Given the description of an element on the screen output the (x, y) to click on. 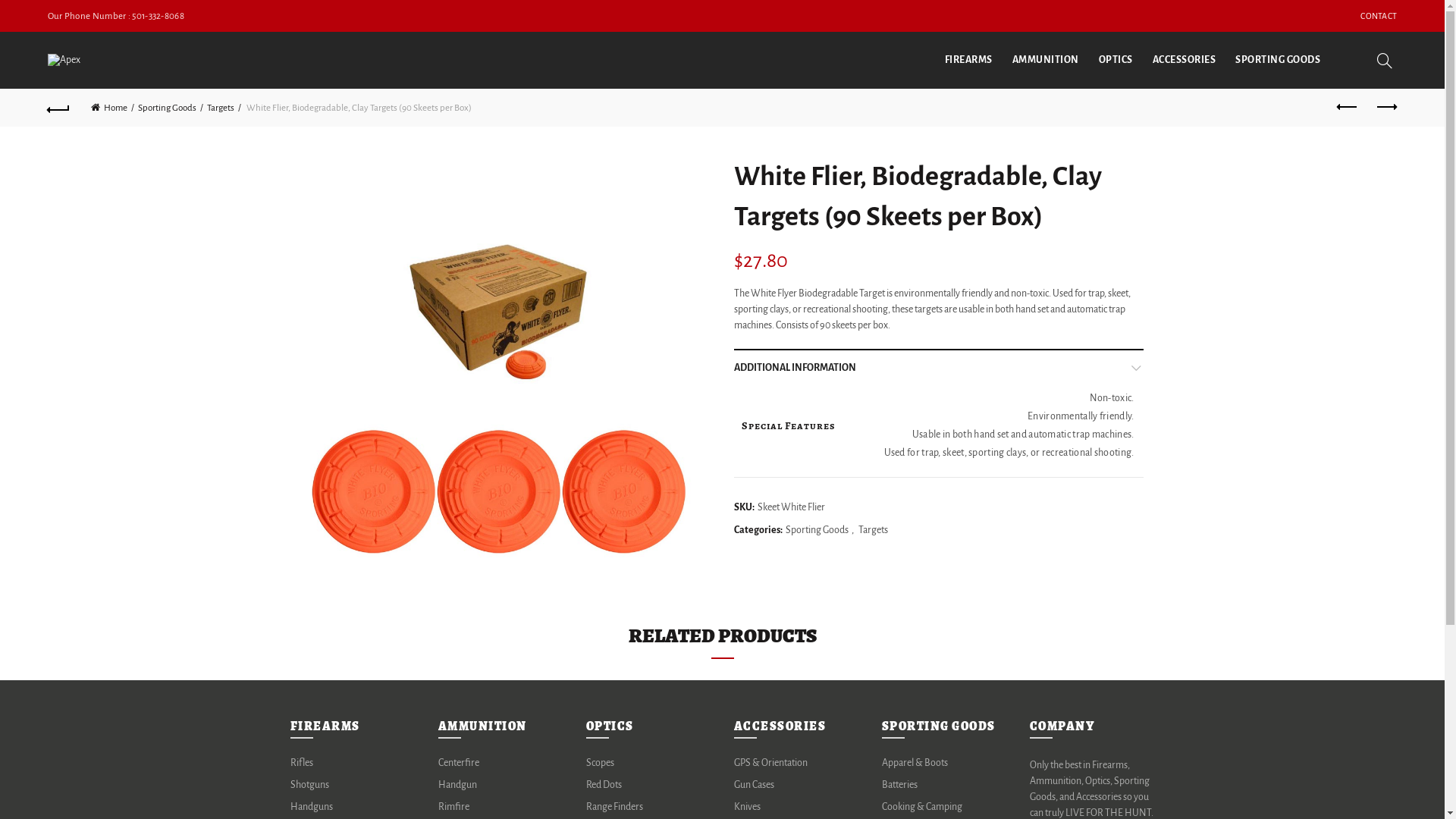
Apparel & Boots Element type: text (914, 762)
Centerfire Element type: text (458, 762)
ACCESSORIES Element type: text (1184, 59)
Sporting Goods Element type: text (816, 530)
Sporting Goods Element type: text (170, 107)
Gun Cases Element type: text (754, 784)
Next product Element type: text (1385, 107)
Handgun Element type: text (457, 784)
Rimfire Element type: text (453, 806)
Batteries Element type: text (898, 784)
Previous product Element type: text (1347, 107)
CONTACT Element type: text (1378, 15)
OPTICS Element type: text (1115, 59)
Rifles Element type: text (300, 762)
ADDITIONAL INFORMATION Element type: text (938, 367)
Knives Element type: text (747, 806)
Home Element type: text (112, 107)
Targets Element type: text (873, 530)
GPS & Orientation Element type: text (770, 762)
SPORTING GOODS Element type: text (1277, 59)
Red Dots Element type: text (603, 784)
Range Finders Element type: text (613, 806)
Back Element type: text (59, 107)
Targets Element type: text (224, 107)
AMMUNITION Element type: text (1045, 59)
FIREARMS Element type: text (968, 59)
Cooking & Camping Element type: text (921, 806)
Scopes Element type: text (599, 762)
Handguns Element type: text (310, 806)
Shotguns Element type: text (308, 784)
